Given the description of an element on the screen output the (x, y) to click on. 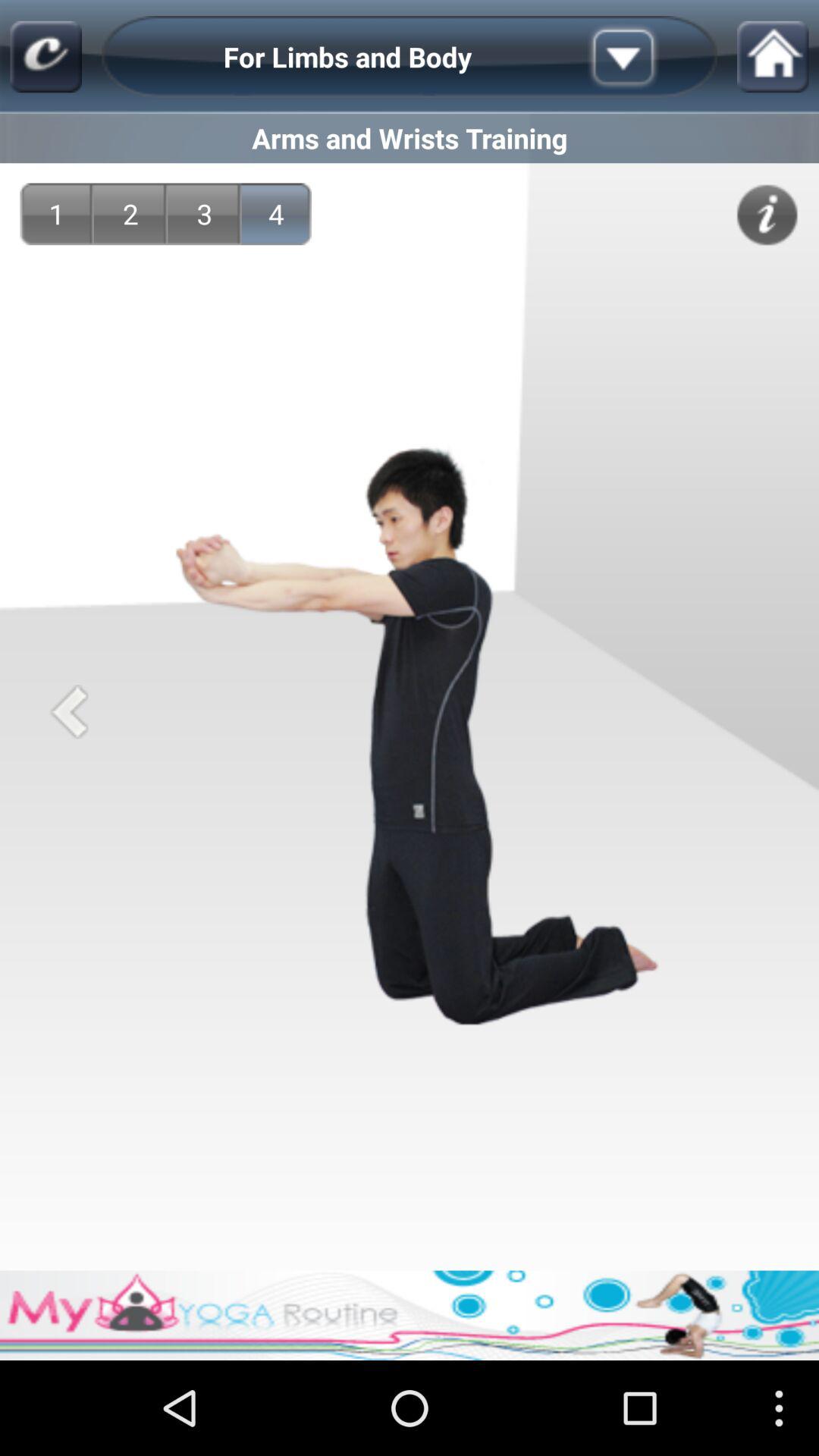
go to previous (68, 711)
